Given the description of an element on the screen output the (x, y) to click on. 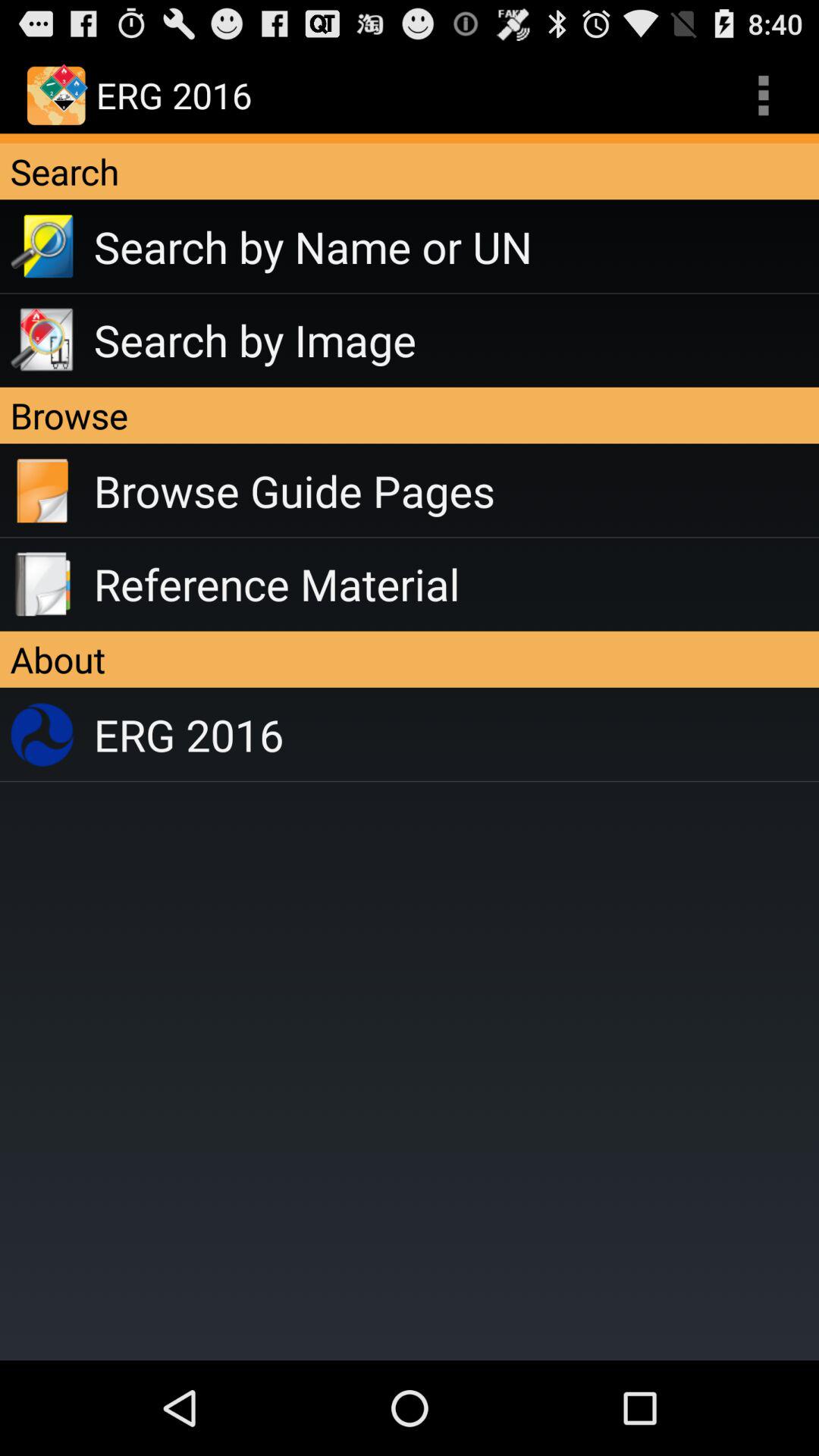
swipe to about item (409, 659)
